Given the description of an element on the screen output the (x, y) to click on. 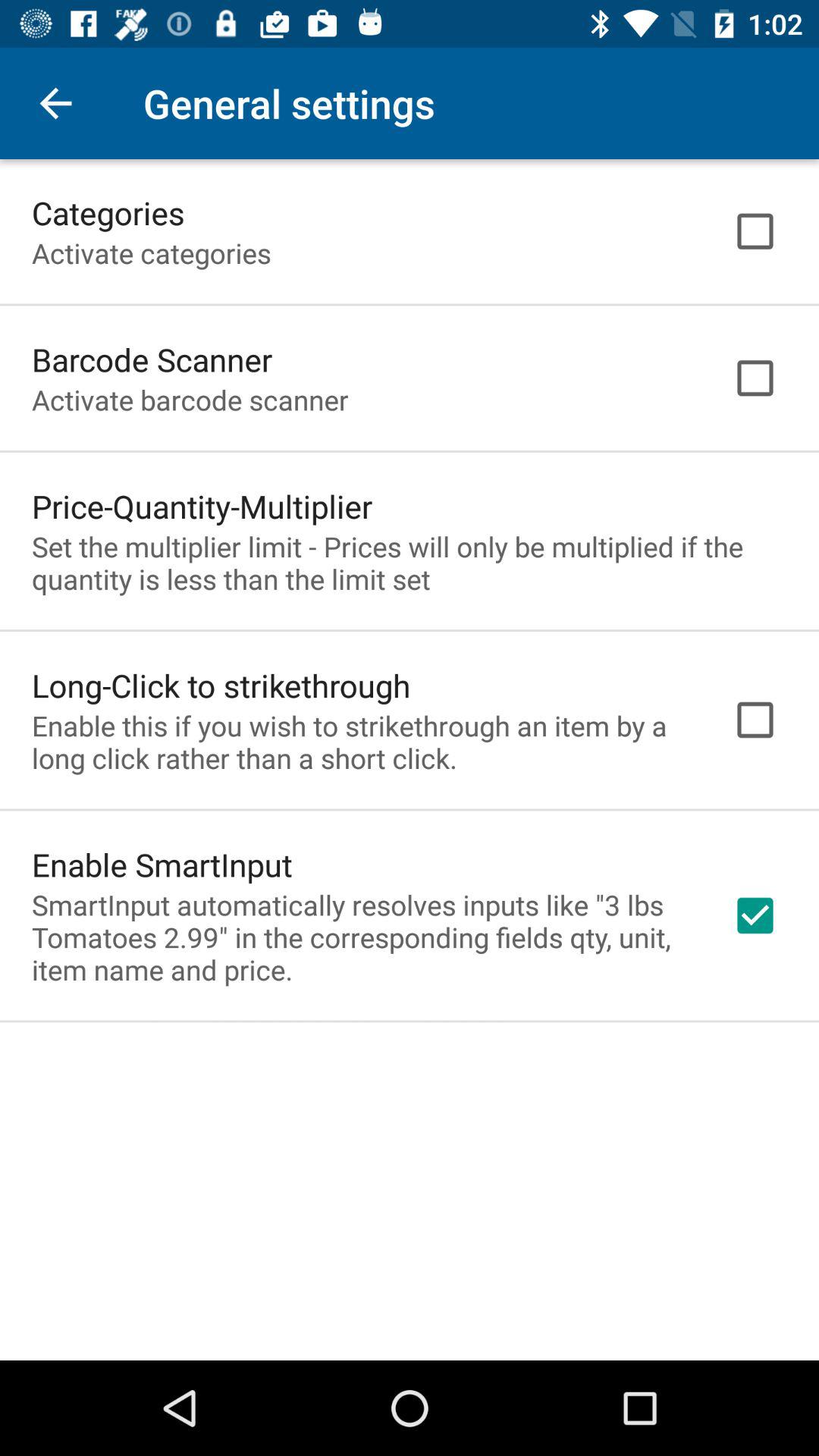
select activate categories item (151, 252)
